Given the description of an element on the screen output the (x, y) to click on. 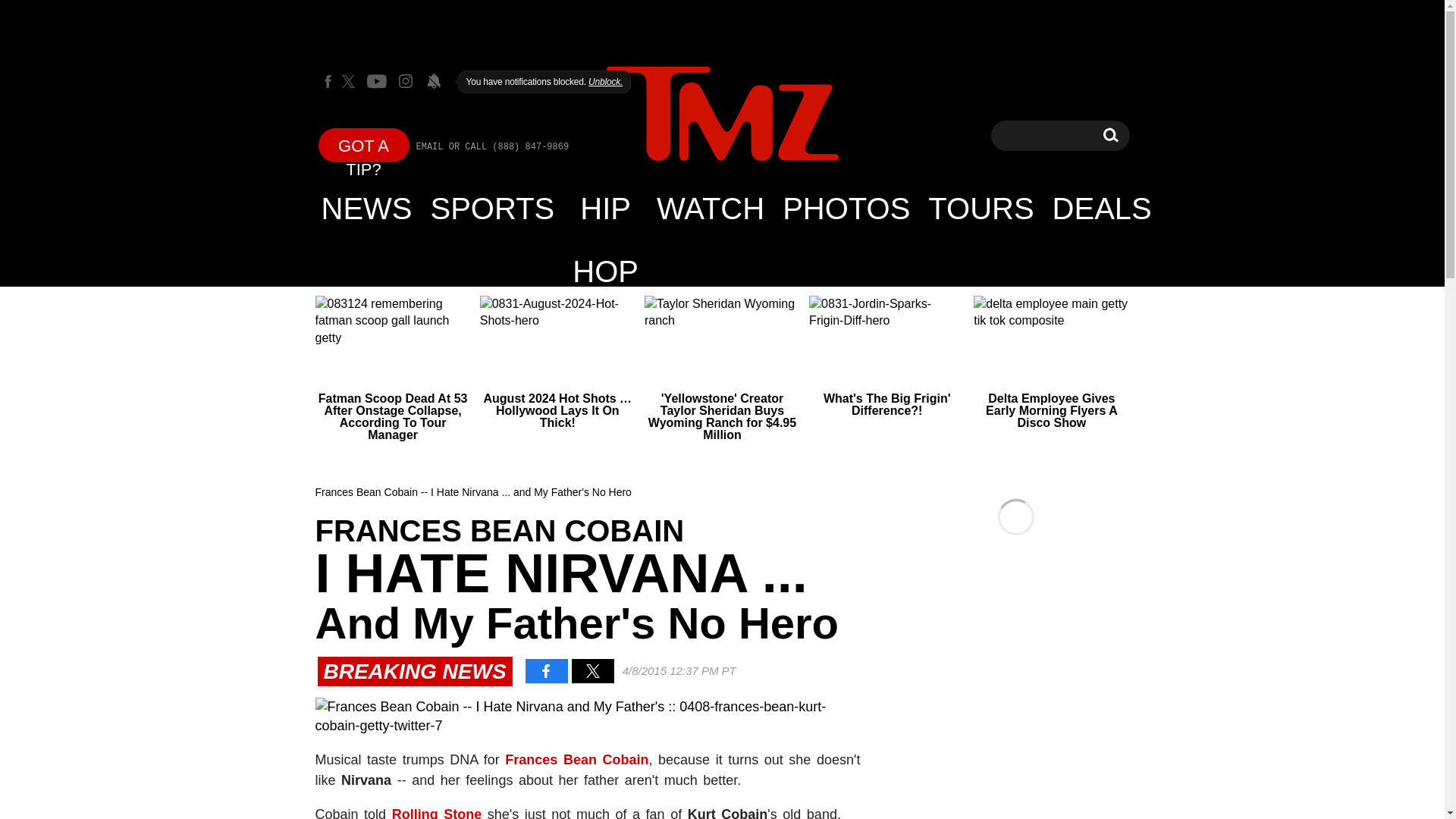
WATCH (710, 207)
NEWS (367, 207)
TOURS (980, 207)
SPORTS (493, 207)
HIP HOP (605, 207)
GOT A TIP? (363, 144)
TMZ (722, 113)
PHOTOS (845, 207)
